Given the description of an element on the screen output the (x, y) to click on. 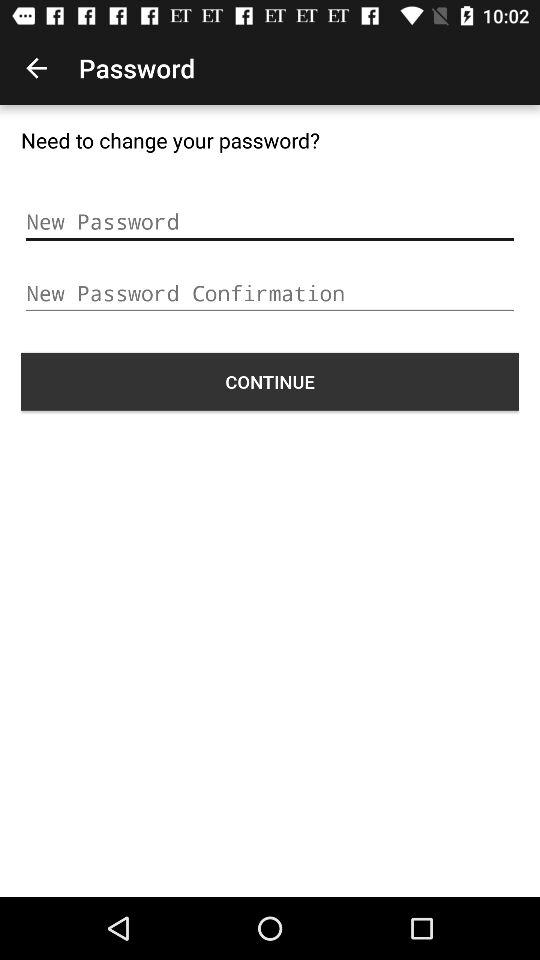
scroll to continue icon (270, 381)
